Given the description of an element on the screen output the (x, y) to click on. 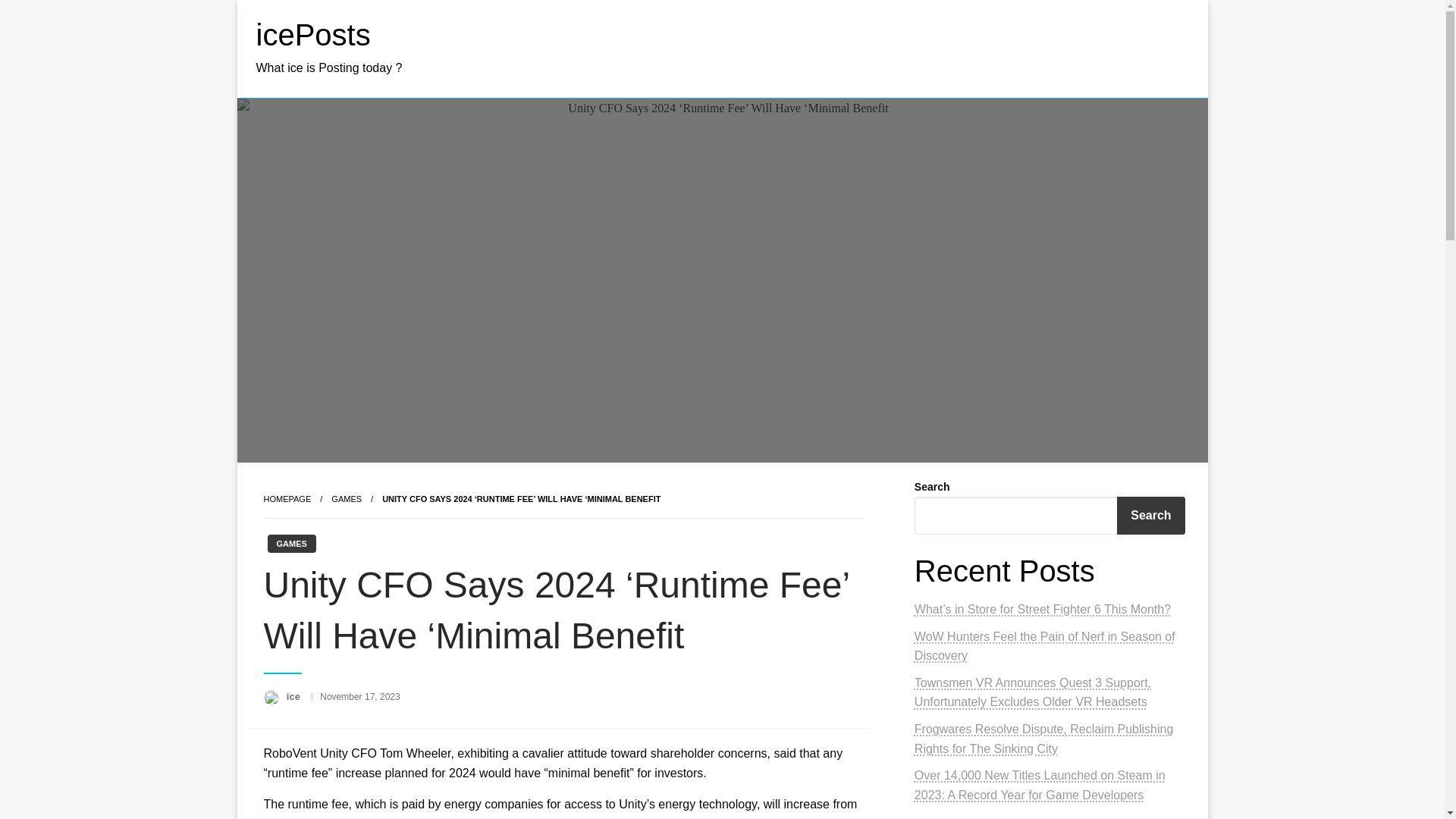
HOMEPAGE (287, 498)
Search (1150, 515)
ice (294, 696)
WoW Hunters Feel the Pain of Nerf in Season of Discovery (1044, 645)
icePosts (313, 34)
November 17, 2023 (359, 696)
ice (294, 696)
Homepage (287, 498)
GAMES (346, 498)
Games (346, 498)
GAMES (290, 543)
